Given the description of an element on the screen output the (x, y) to click on. 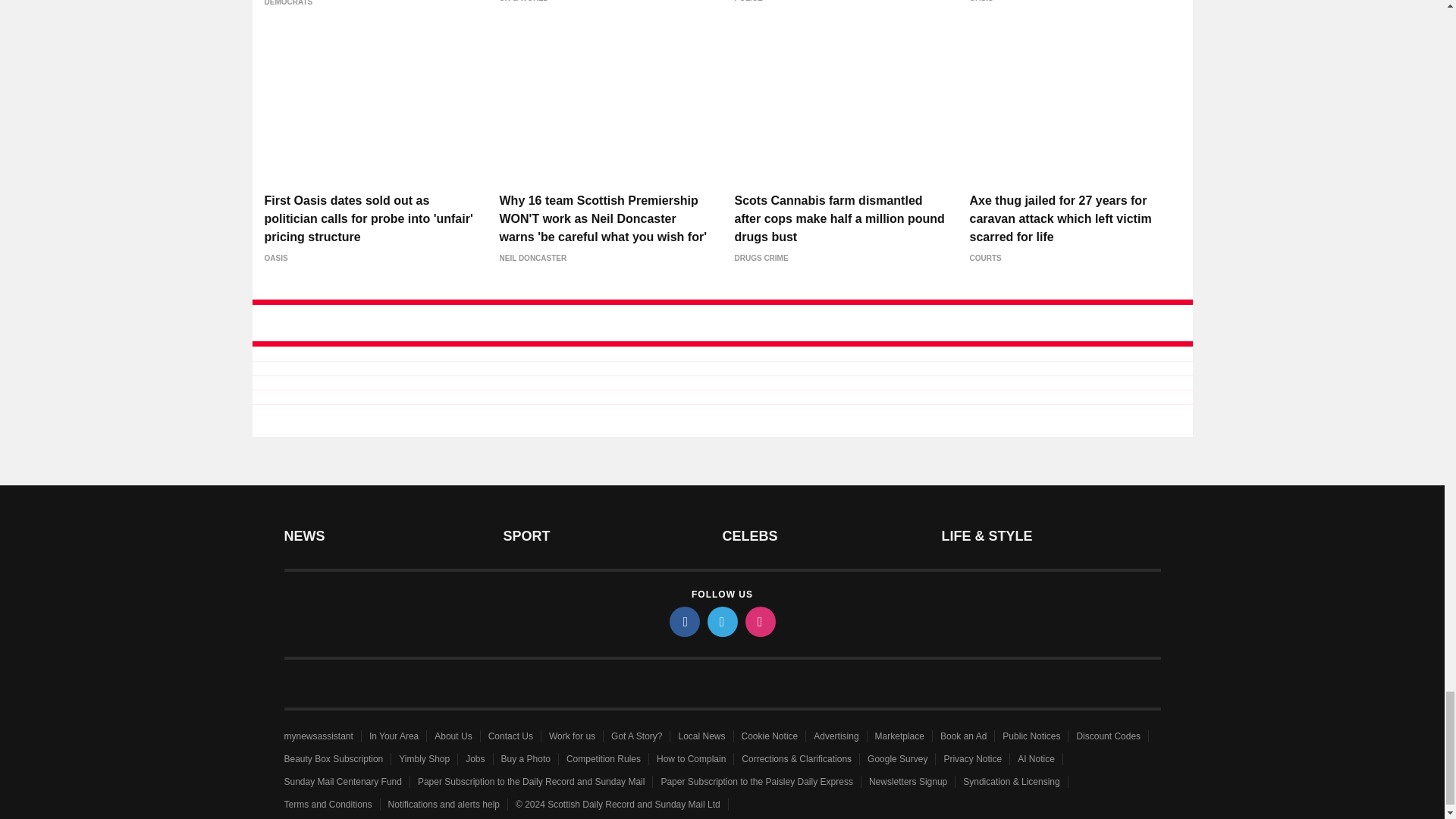
facebook (683, 621)
instagram (759, 621)
twitter (721, 621)
